Given the description of an element on the screen output the (x, y) to click on. 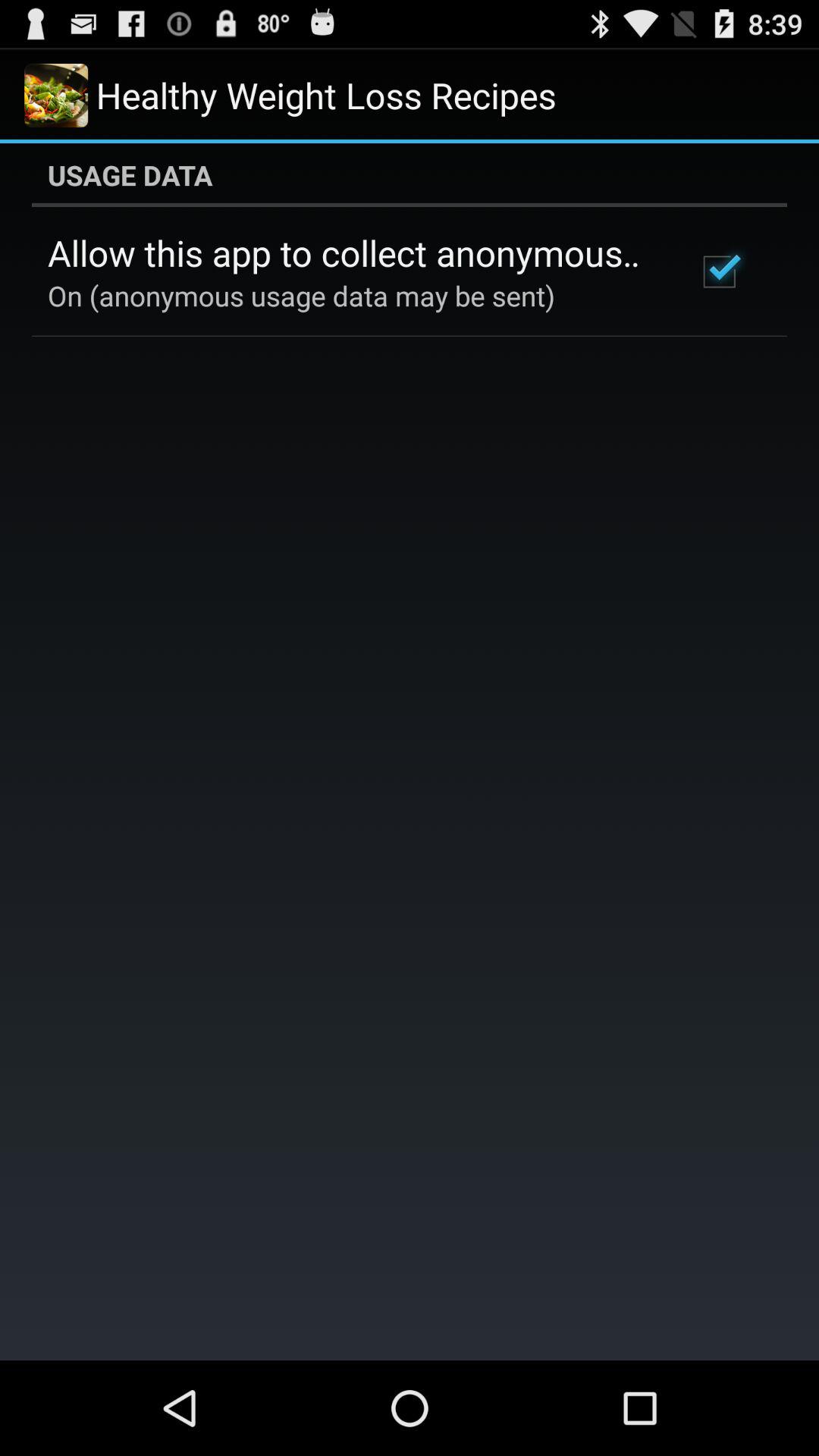
launch item to the right of the allow this app icon (719, 271)
